Given the description of an element on the screen output the (x, y) to click on. 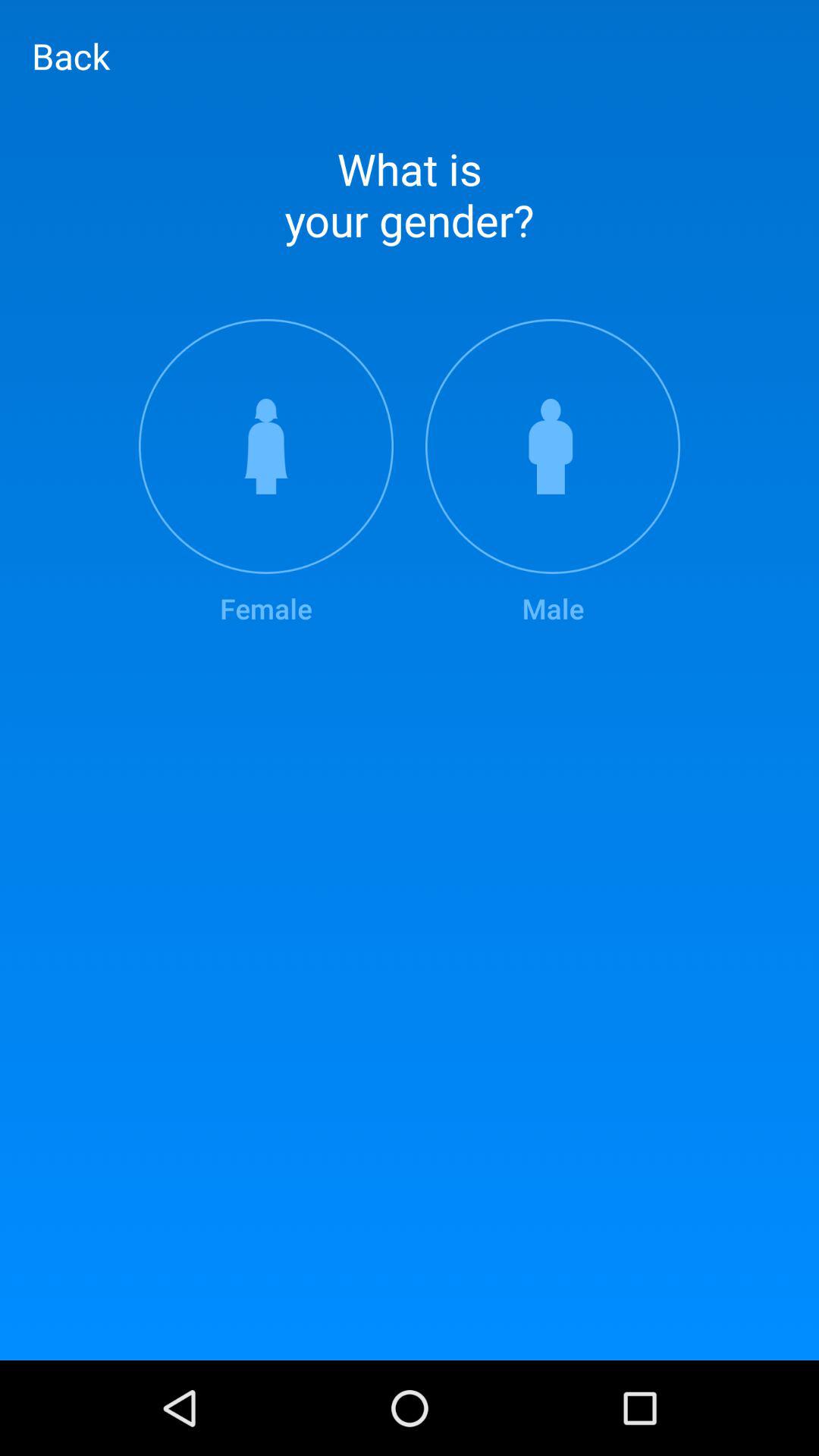
select the item to the left of the male icon (265, 473)
